Given the description of an element on the screen output the (x, y) to click on. 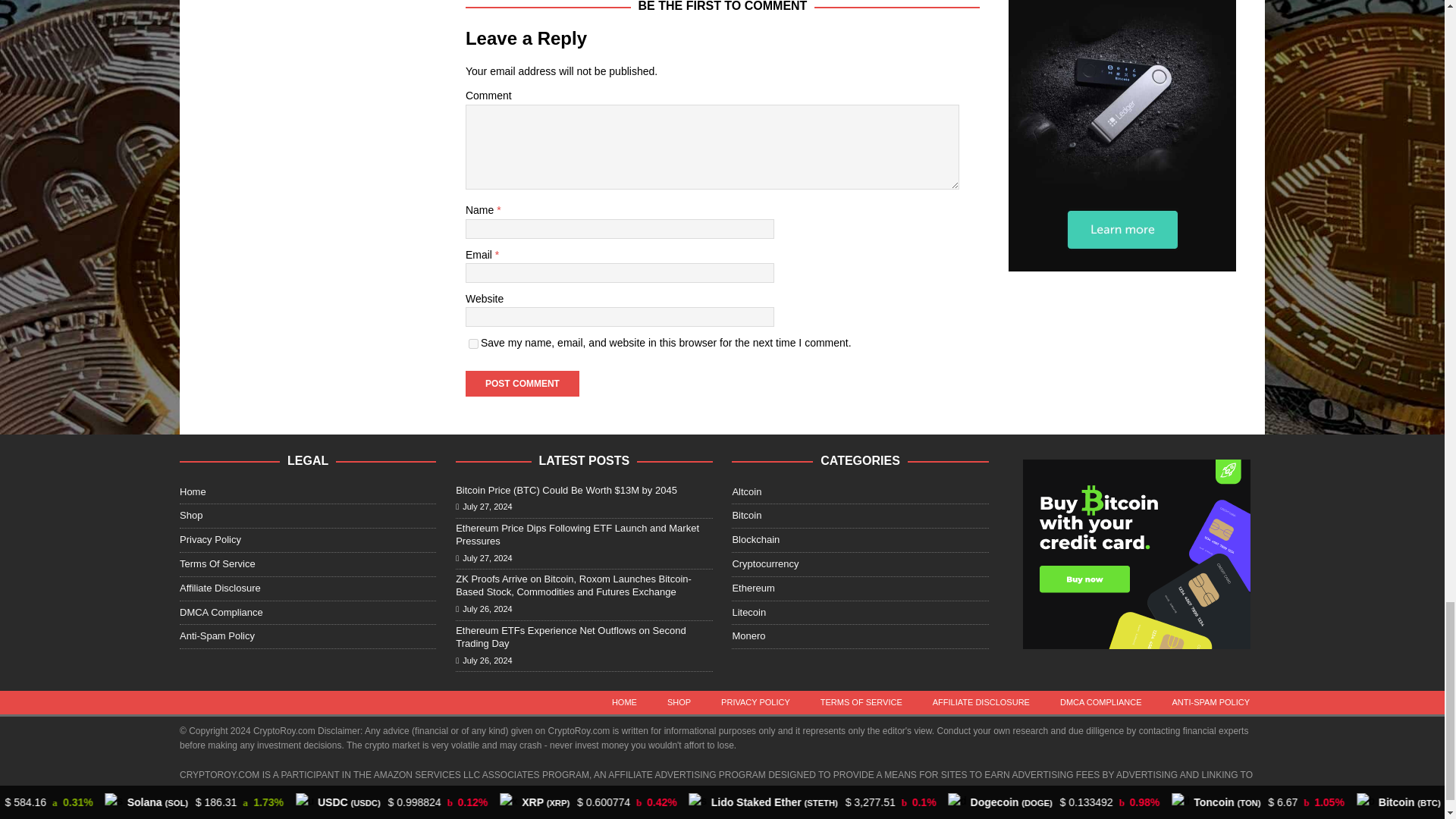
yes (473, 343)
Post Comment (522, 383)
